Given the description of an element on the screen output the (x, y) to click on. 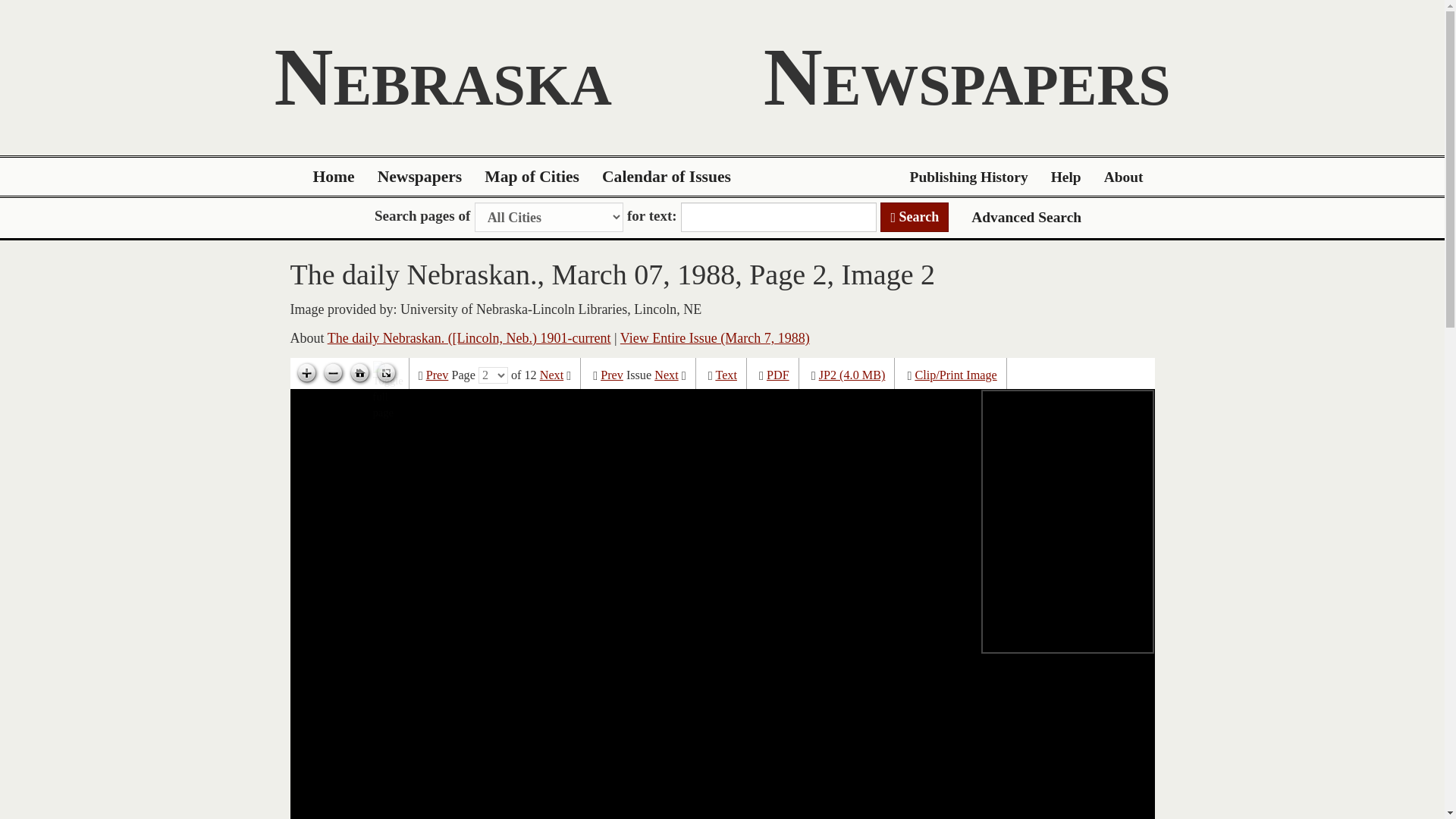
Text (725, 375)
Next (665, 375)
Toggle full page (385, 373)
Advanced Search (1026, 216)
Newspapers (420, 176)
PDF (778, 375)
Publishing History (968, 176)
Prev (437, 375)
Go home (359, 373)
Search (914, 217)
